Given the description of an element on the screen output the (x, y) to click on. 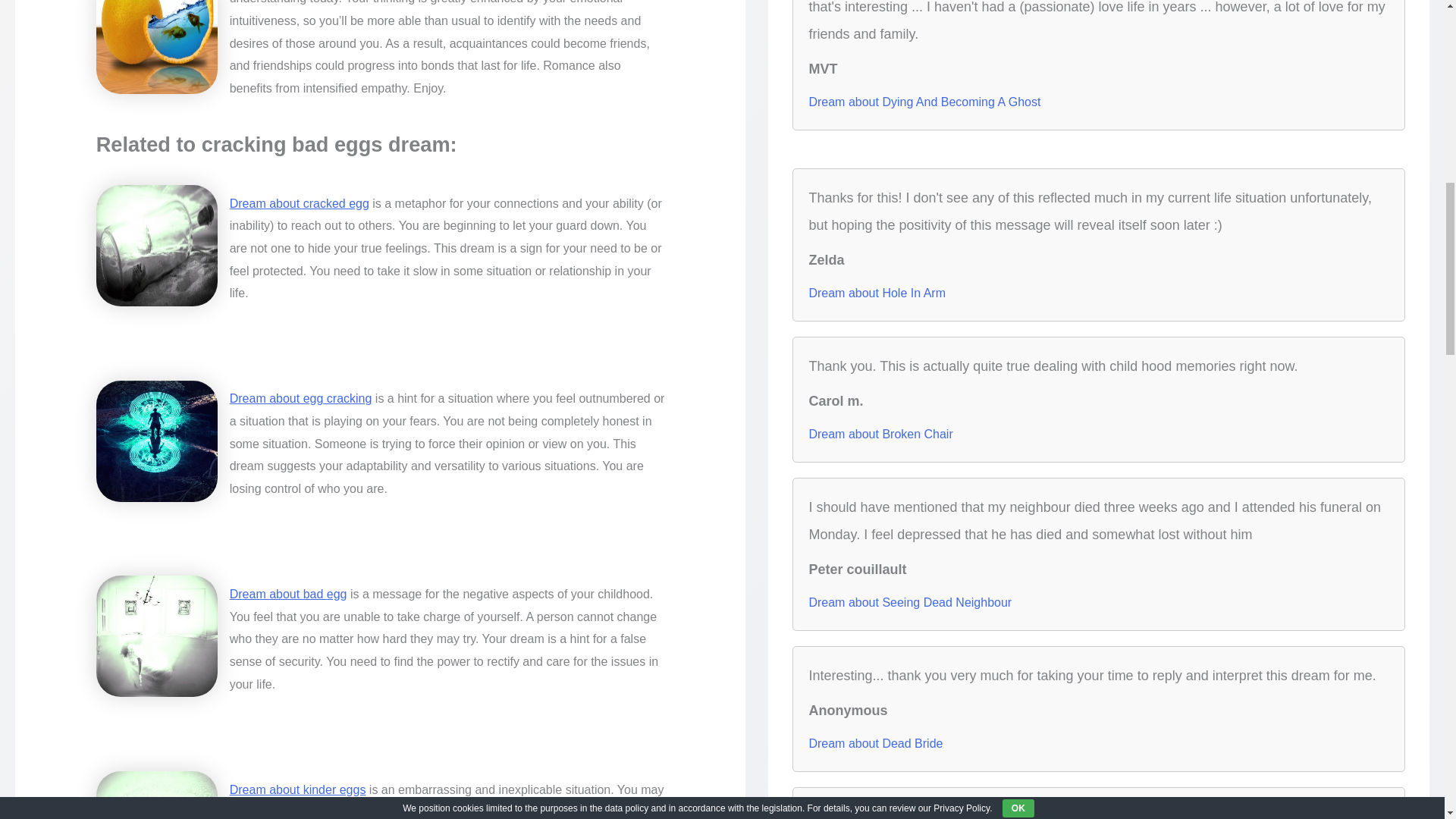
Dream about egg cracking (301, 398)
Dream about Broken Chair (880, 434)
Dream about Dead Bride (875, 743)
Dream about Seeing Dead Neighbour (909, 602)
Dream about bad egg (288, 594)
Dream about Dying And Becoming A Ghost (924, 102)
Dream about Hole In Arm (876, 293)
Dream about kinder eggs (298, 789)
Dream about cracked egg (299, 203)
